Given the description of an element on the screen output the (x, y) to click on. 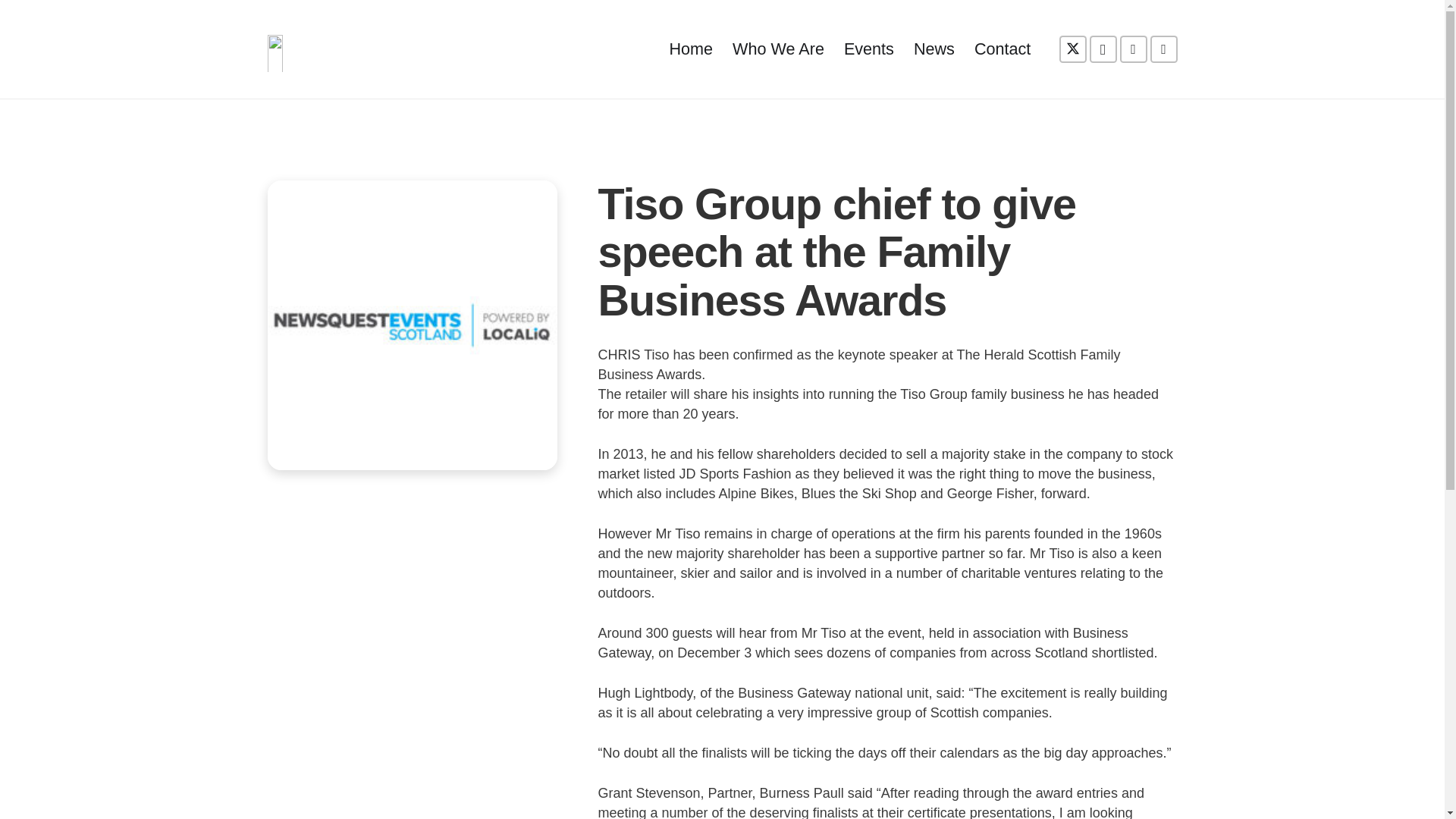
Contact (1002, 48)
Twitter (1072, 49)
Instagram (1102, 49)
Email (1163, 49)
Events (868, 48)
YouTube (1133, 49)
Who We Are (777, 48)
Home (690, 48)
News (933, 48)
